Given the description of an element on the screen output the (x, y) to click on. 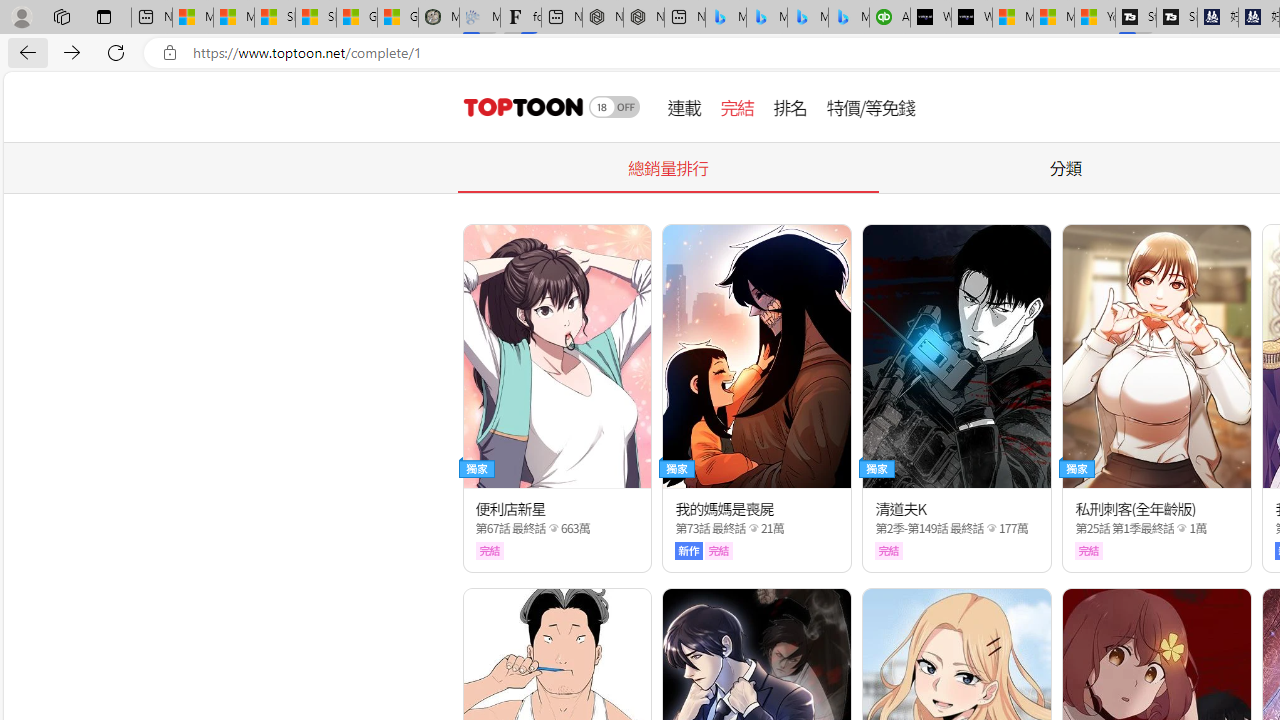
Streaming Coverage | T3 (1135, 17)
Forward (72, 52)
What's the best AI voice generator? - voice.ai (971, 17)
Nordace - #1 Japanese Best-Seller - Siena Smart Backpack (643, 17)
